Given the description of an element on the screen output the (x, y) to click on. 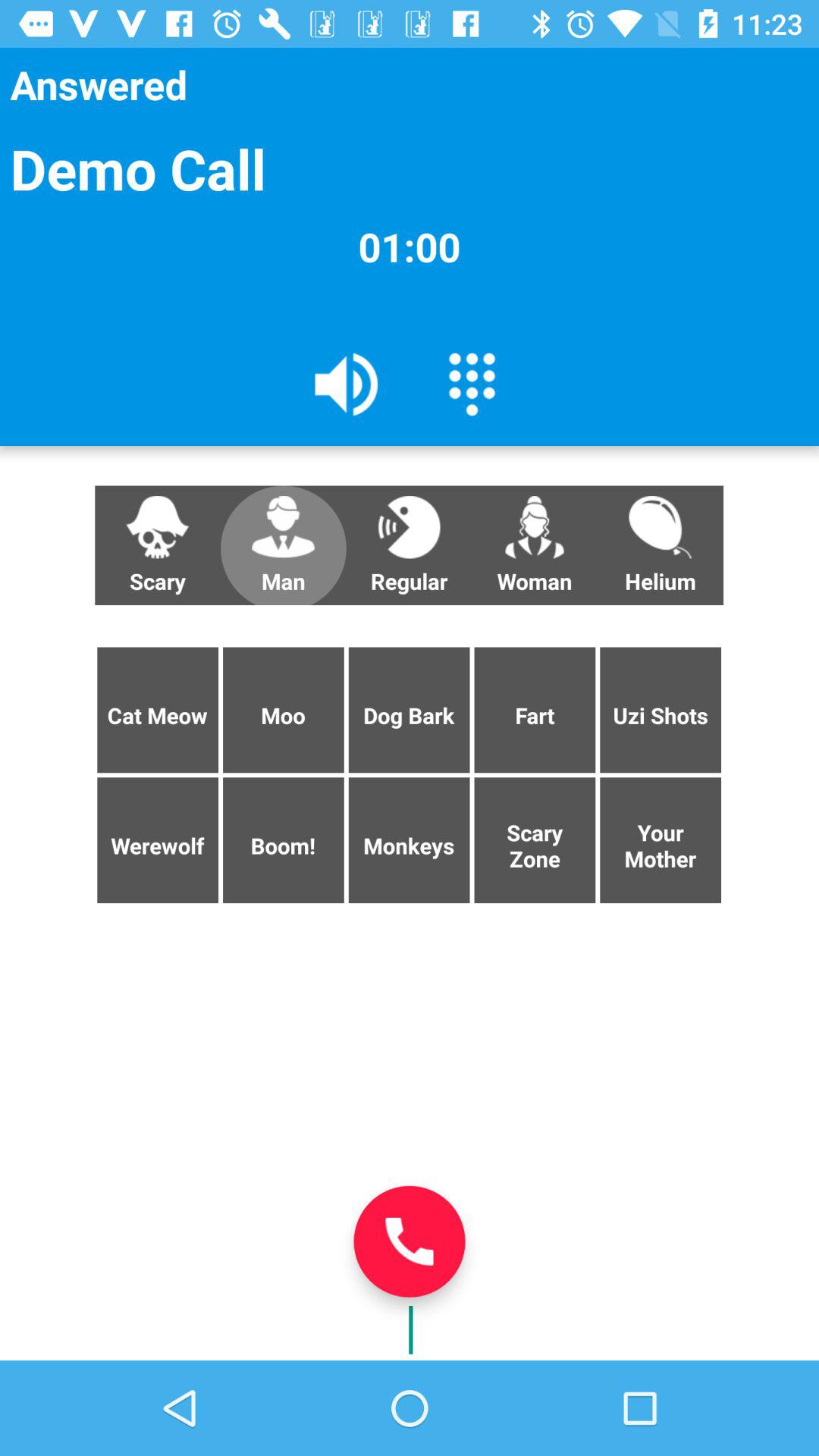
flip to the woman (534, 545)
